Given the description of an element on the screen output the (x, y) to click on. 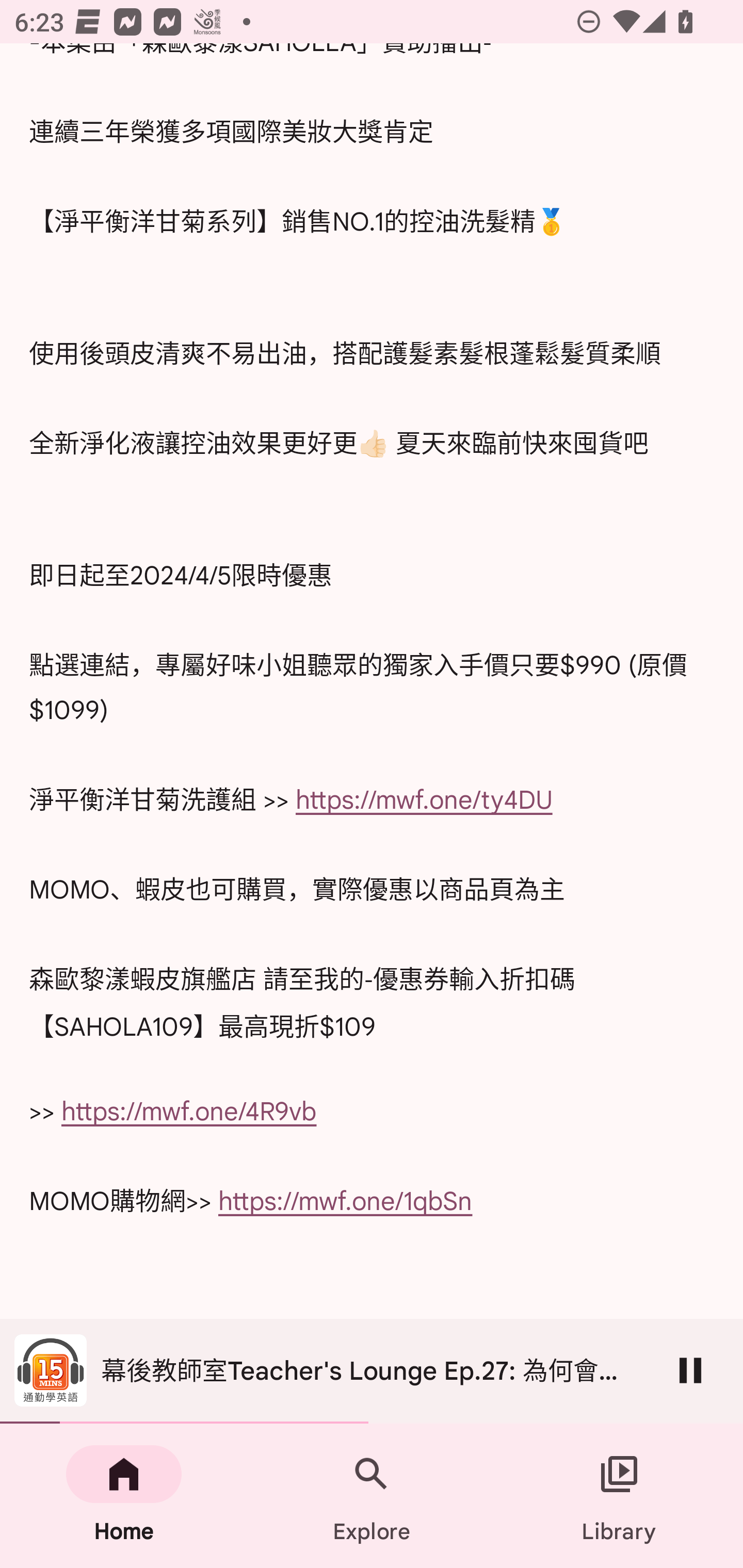
Pause (690, 1370)
Explore (371, 1495)
Library (619, 1495)
